Given the description of an element on the screen output the (x, y) to click on. 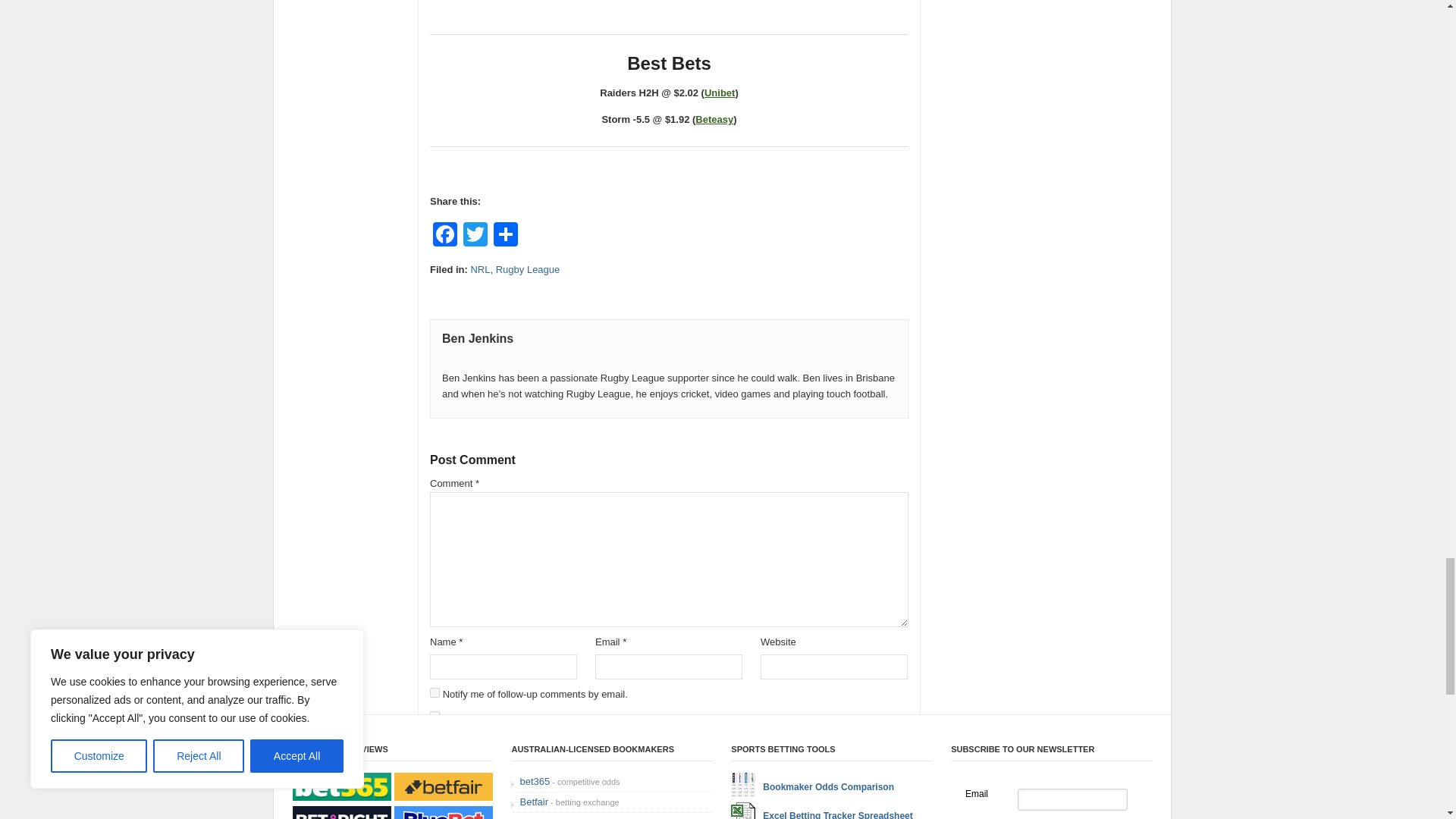
Twitter (475, 235)
Facebook (444, 235)
subscribe (434, 692)
subscribe (434, 716)
